Given the description of an element on the screen output the (x, y) to click on. 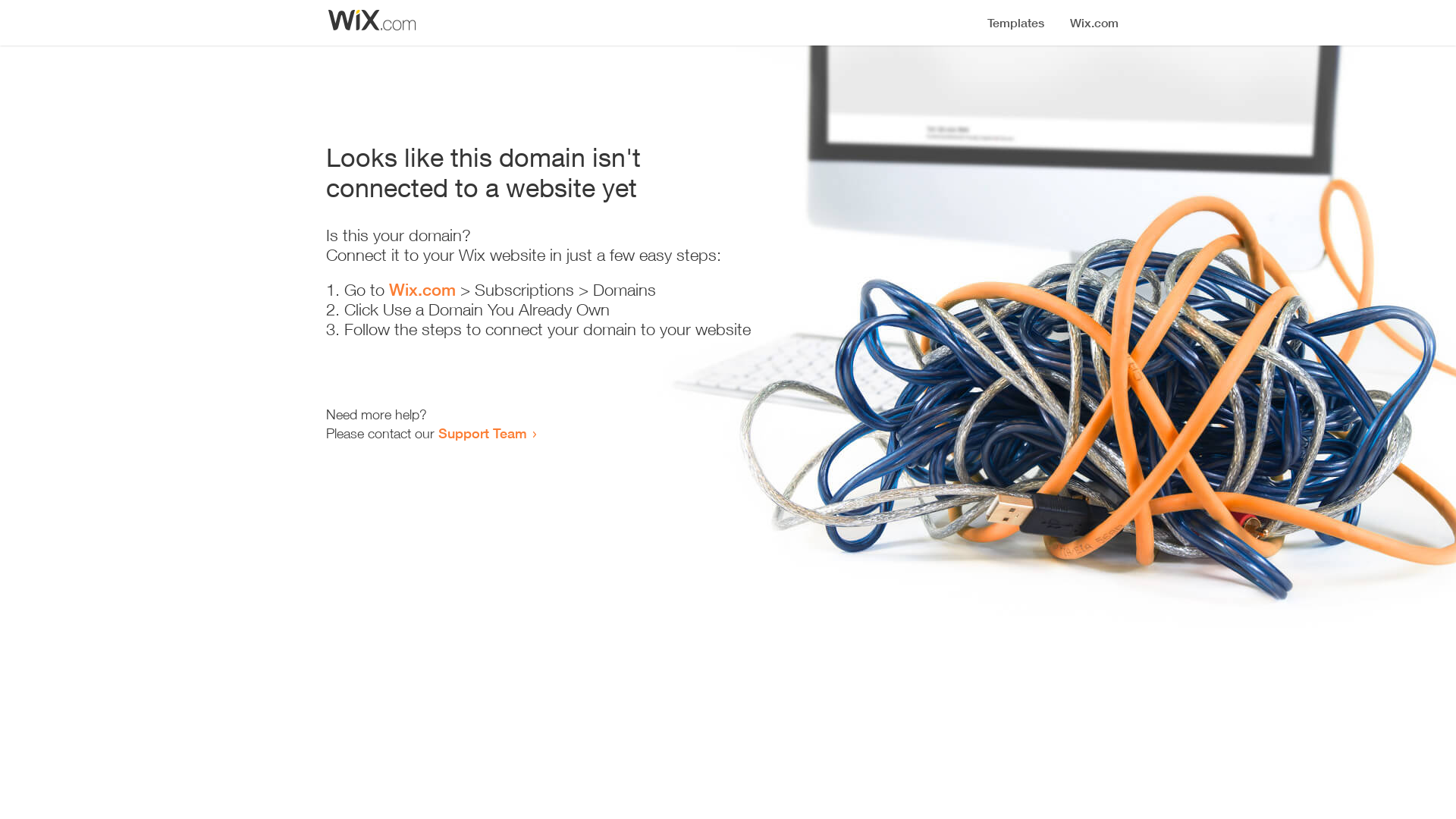
Wix.com Element type: text (422, 289)
Support Team Element type: text (482, 432)
